Given the description of an element on the screen output the (x, y) to click on. 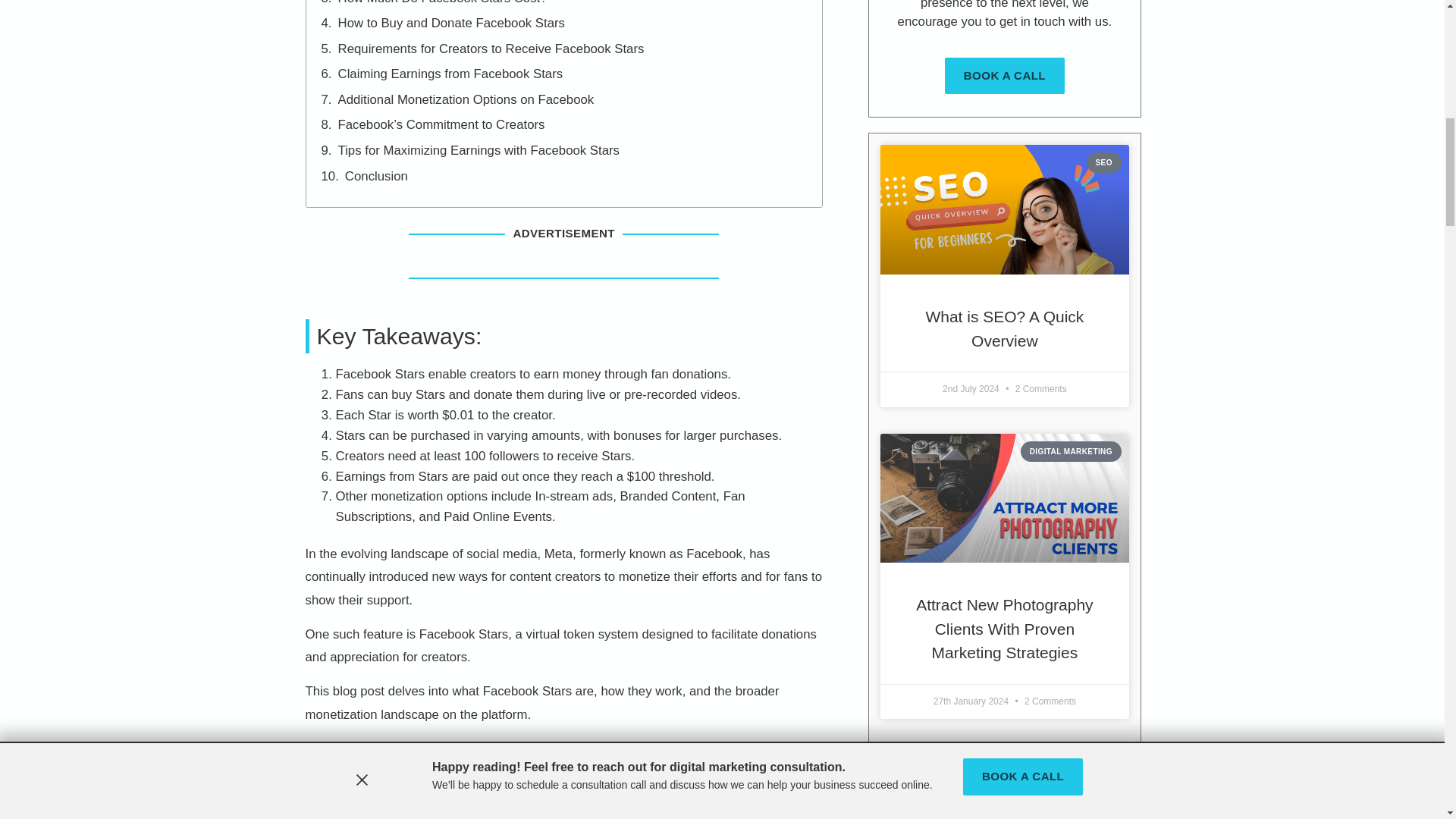
How to Buy and Donate Facebook Stars (450, 22)
Tips for Maximizing Earnings with Facebook Stars (478, 149)
Claiming Earnings from Facebook Stars (450, 73)
Requirements for Creators to Receive Facebook Stars (491, 48)
Additional Monetization Options on Facebook (465, 99)
How Much Do Facebook Stars Cost? (442, 3)
Conclusion (376, 176)
